Given the description of an element on the screen output the (x, y) to click on. 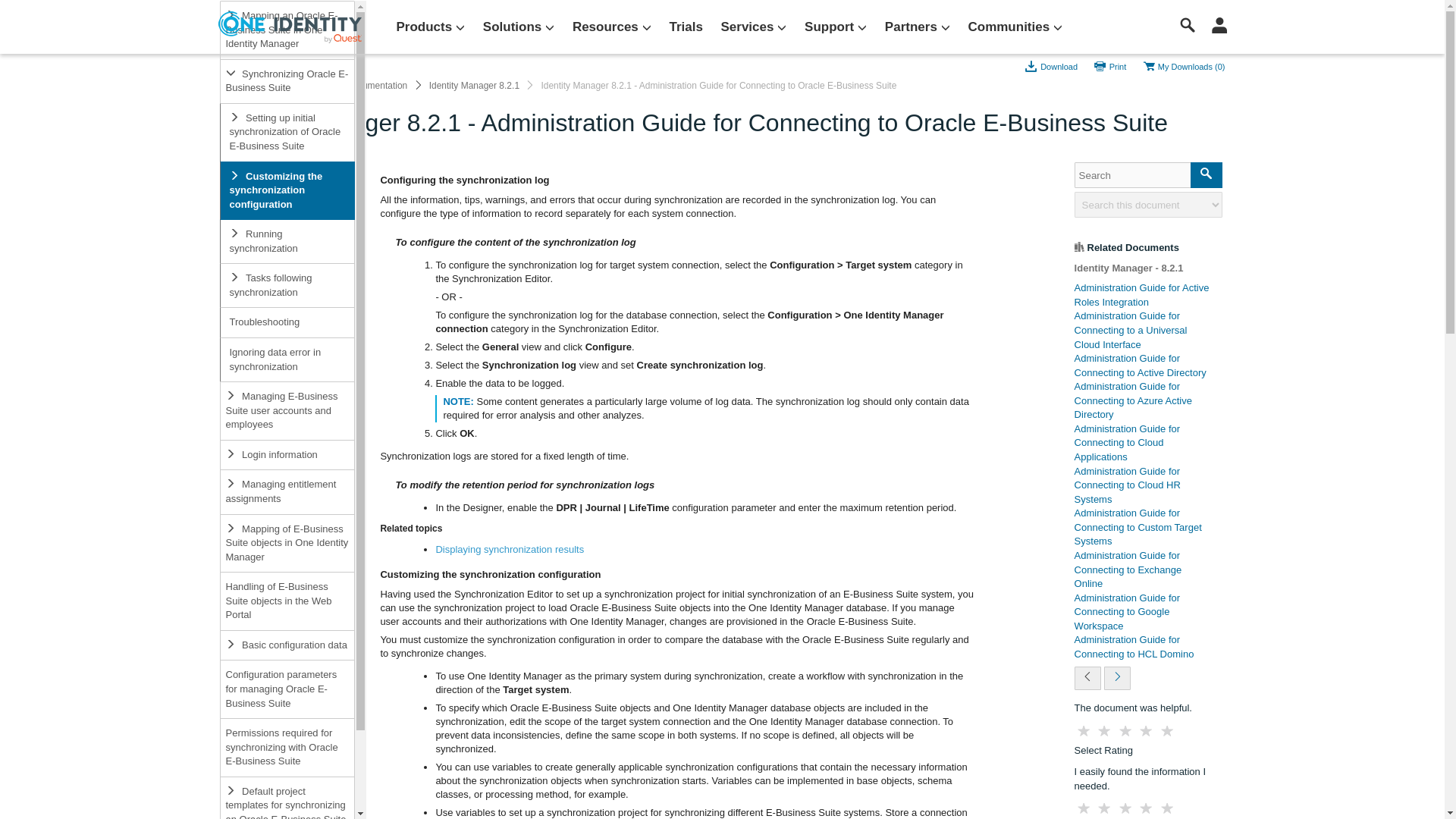
Resources (611, 27)
Products (429, 27)
Solutions (519, 27)
